Given the description of an element on the screen output the (x, y) to click on. 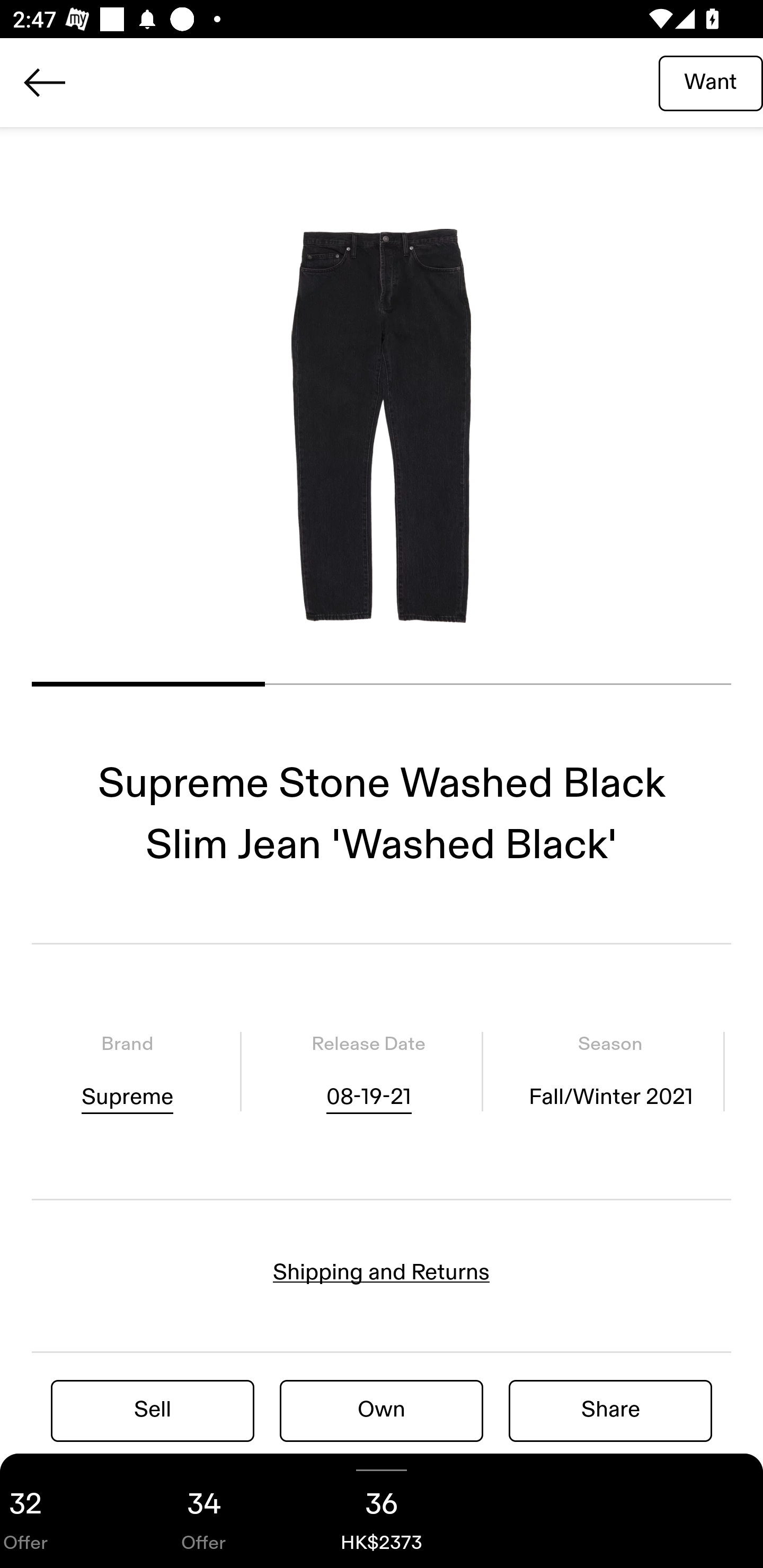
Want (710, 82)
Brand Supreme (126, 1070)
Release Date 08-19-21 (368, 1070)
Season Fall/Winter 2021 (609, 1070)
Shipping and Returns (381, 1272)
Sell (152, 1410)
Own (381, 1410)
Share (609, 1410)
32 Offer (57, 1510)
34 Offer (203, 1510)
36 HK$2373 (381, 1510)
